Given the description of an element on the screen output the (x, y) to click on. 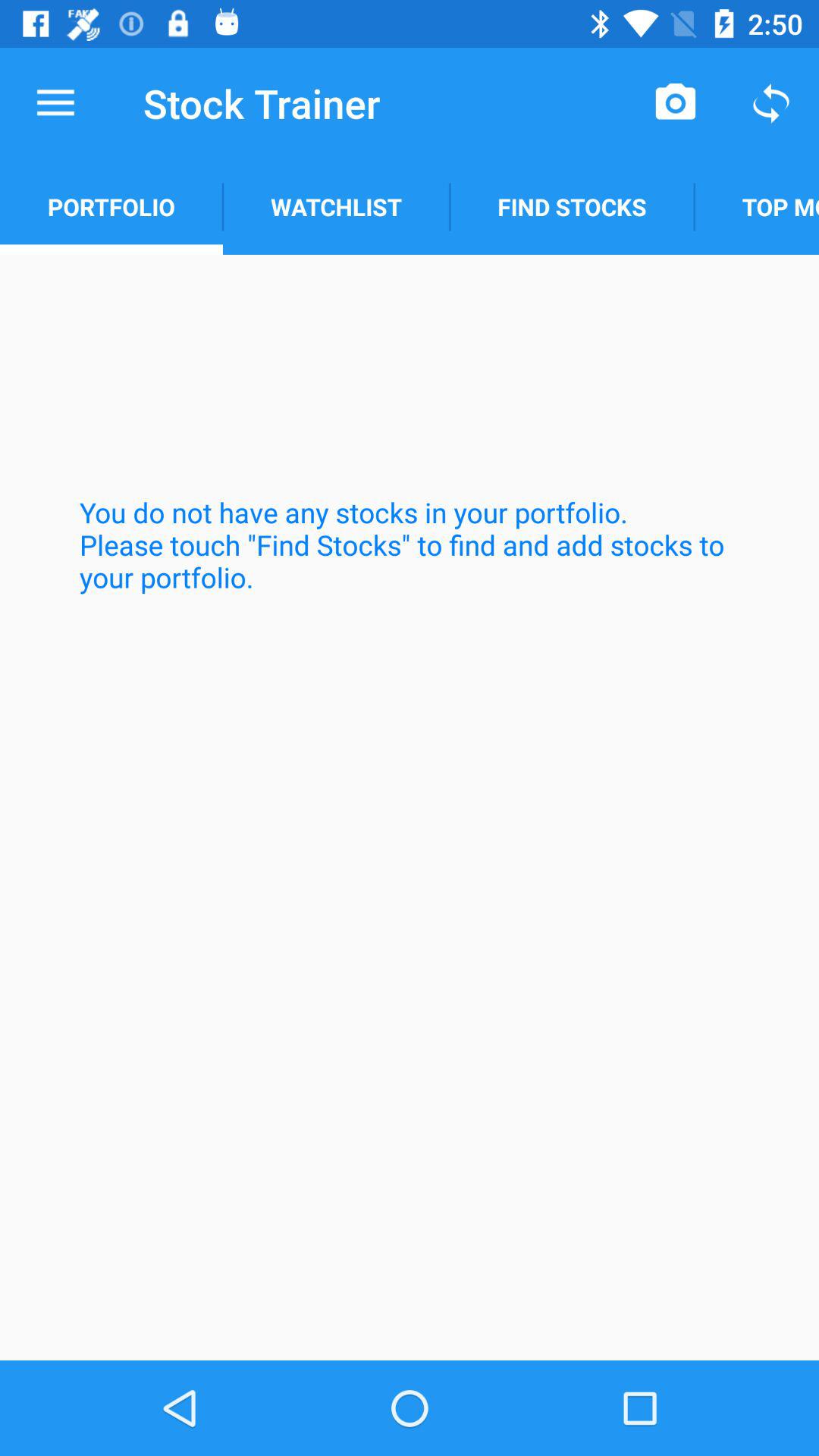
tap the item below stock trainer icon (335, 206)
